Given the description of an element on the screen output the (x, y) to click on. 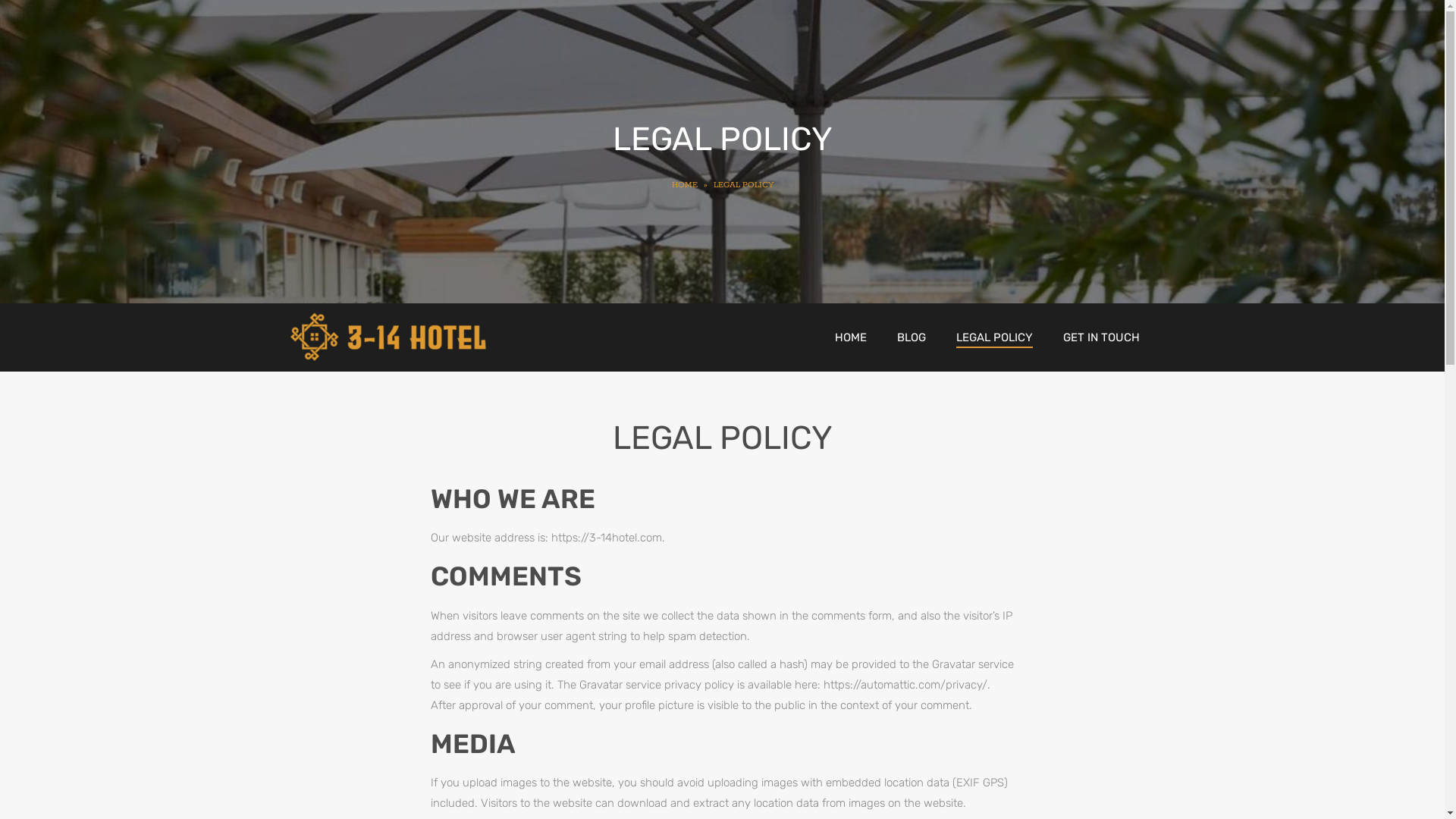
BLOG Element type: text (910, 337)
HOME Element type: text (850, 337)
LEGAL POLICY Element type: text (993, 337)
GET IN TOUCH Element type: text (1101, 337)
HOME Element type: text (685, 184)
